Given the description of an element on the screen output the (x, y) to click on. 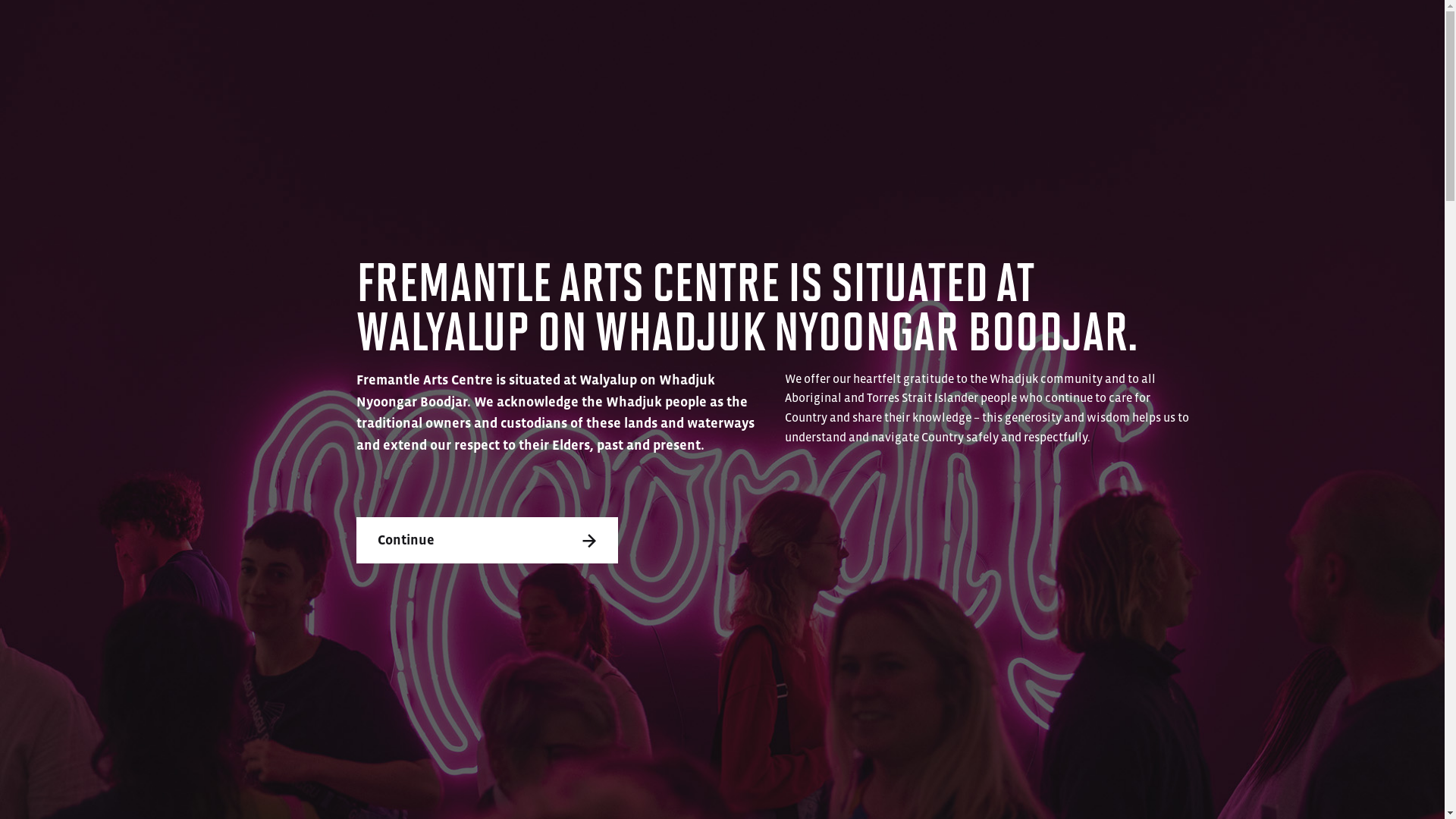
CART (0) Element type: text (1318, 27)
Add to Calendar Element type: text (525, 716)
Shop Element type: hover (310, 498)
Go to the What's On page Element type: hover (310, 150)
MEMBERSHIP Element type: text (407, 780)
Fullscreen Element type: text (1165, 505)
EVENT Element type: text (373, 62)
Toggle menu Element type: text (1417, 27)
NEWS Element type: text (277, 780)
Continue Element type: text (487, 540)
Toggle search Element type: text (1373, 27)
Fremantle Arts Centre Element type: text (89, 41)
Go to the For Artists page Element type: hover (310, 359)
Go to the Visit page Element type: hover (310, 219)
Go to the Venues page Element type: hover (310, 429)
CONTACT Element type: text (548, 780)
Go to the Courses page Element type: hover (310, 289)
ABOUT Element type: text (177, 780)
LOGIN Element type: text (1256, 27)
